Given the description of an element on the screen output the (x, y) to click on. 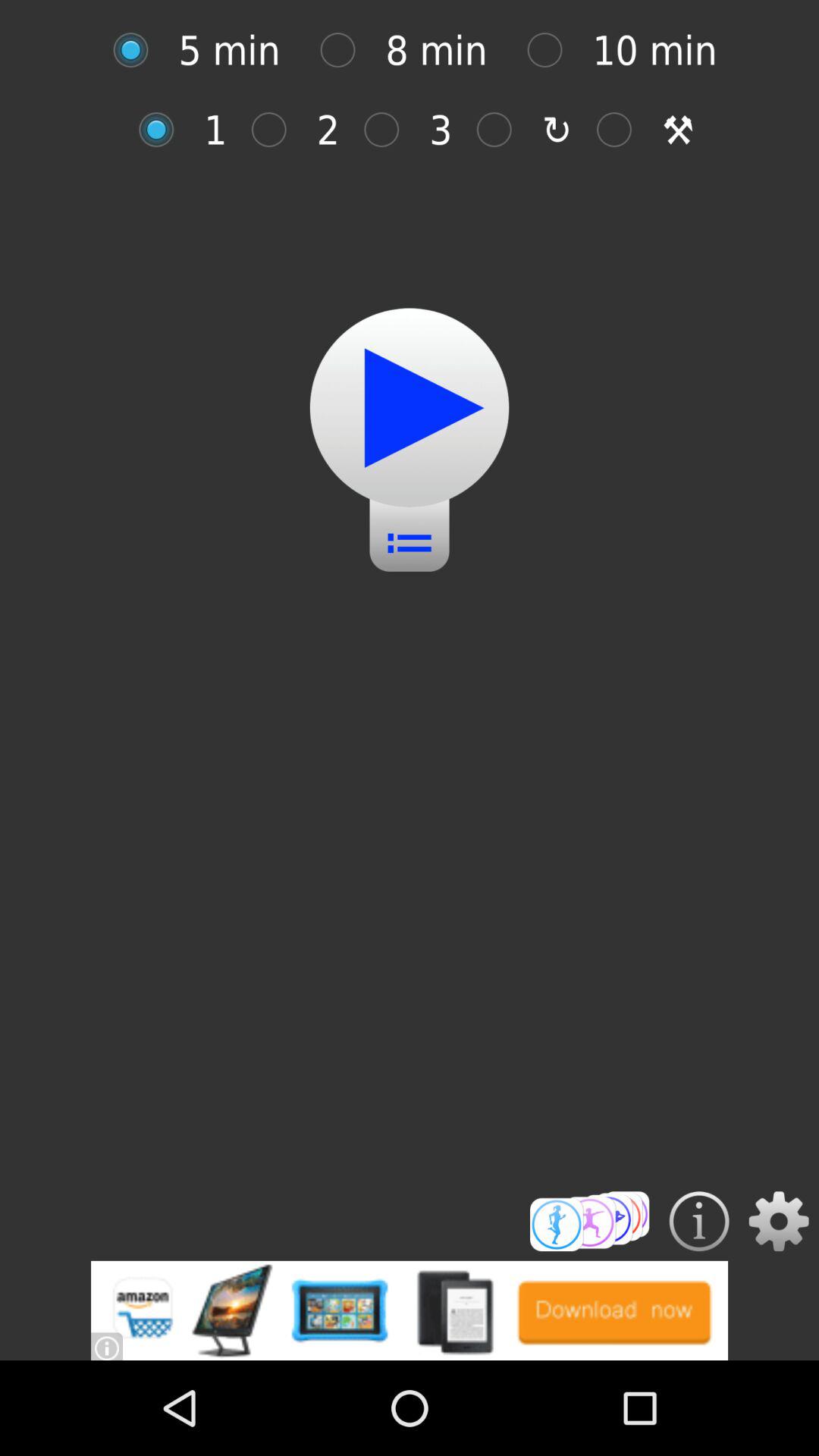
toggle 10 min (552, 49)
